Given the description of an element on the screen output the (x, y) to click on. 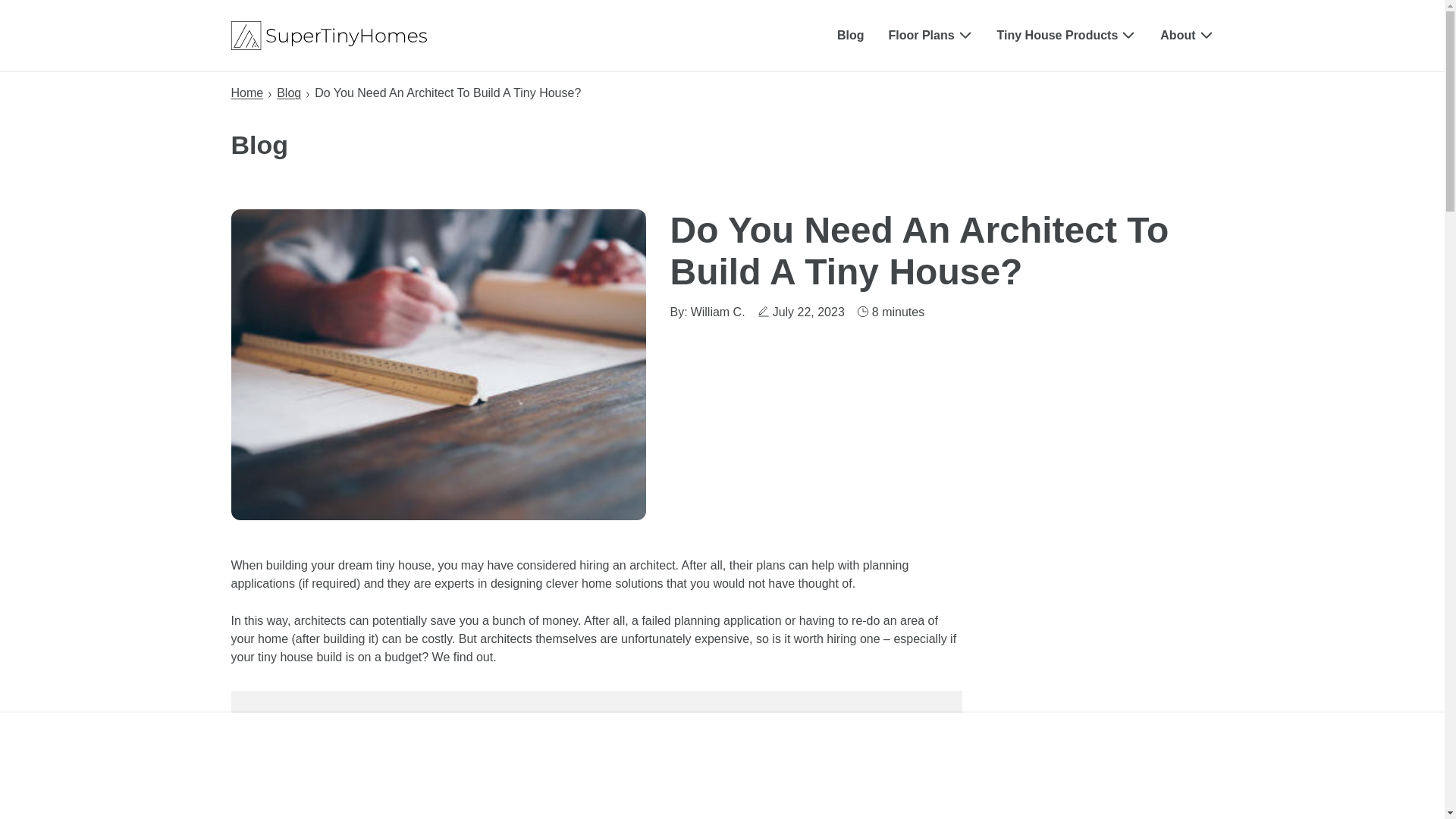
Floor Plans (930, 36)
Do You Need An Architect To Build A Tiny House? (387, 748)
Typical Costs of Hiring an Architect (358, 768)
Risks of Not Having an Architect (351, 810)
hide (328, 725)
Blog (288, 92)
Home (246, 92)
About (1186, 36)
Advertisement (721, 766)
Blog (850, 35)
What Architects Will Offer a Tiny House Build (385, 789)
Tiny House Products (1067, 36)
